Given the description of an element on the screen output the (x, y) to click on. 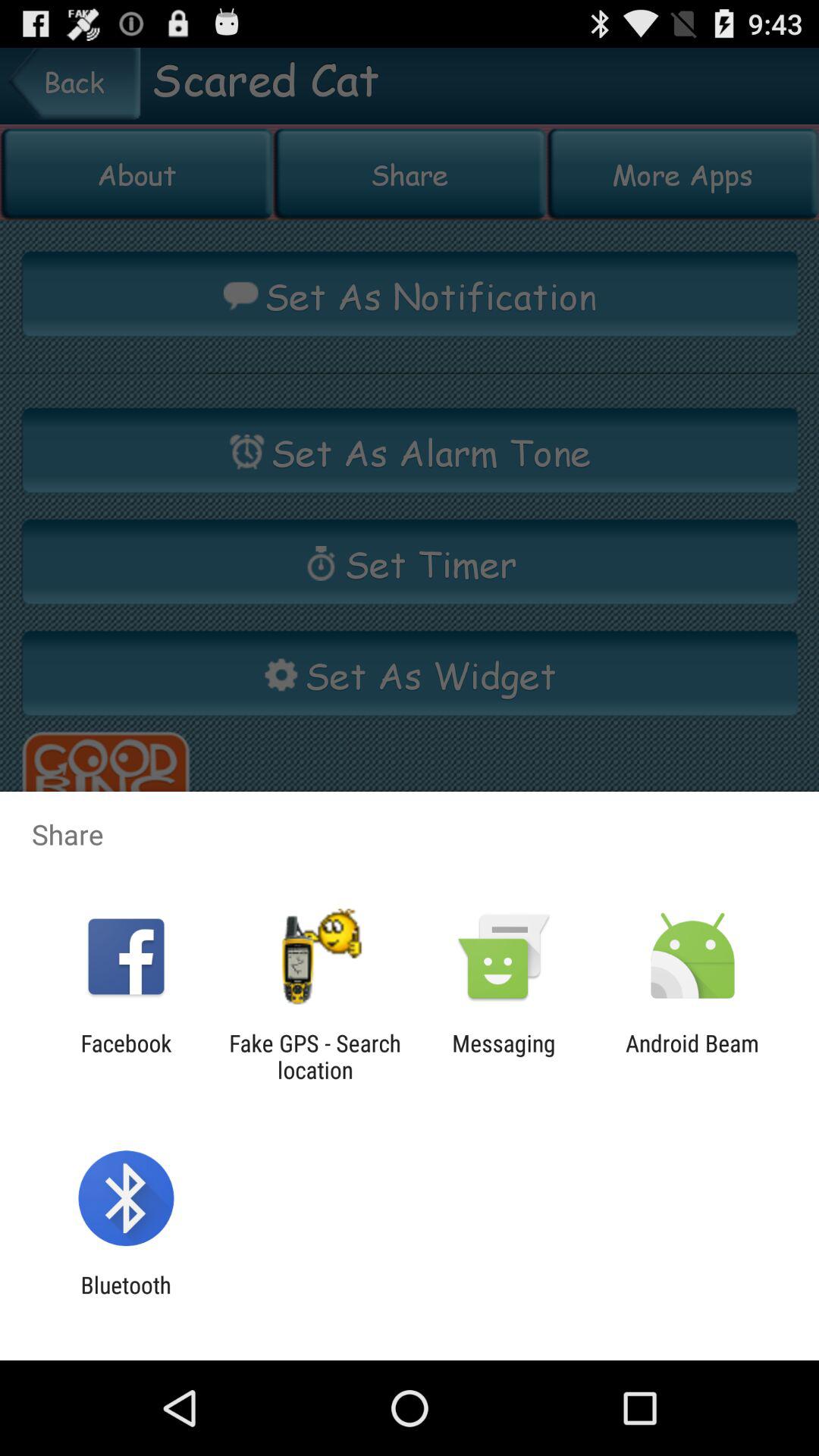
choose the icon at the bottom right corner (692, 1056)
